Given the description of an element on the screen output the (x, y) to click on. 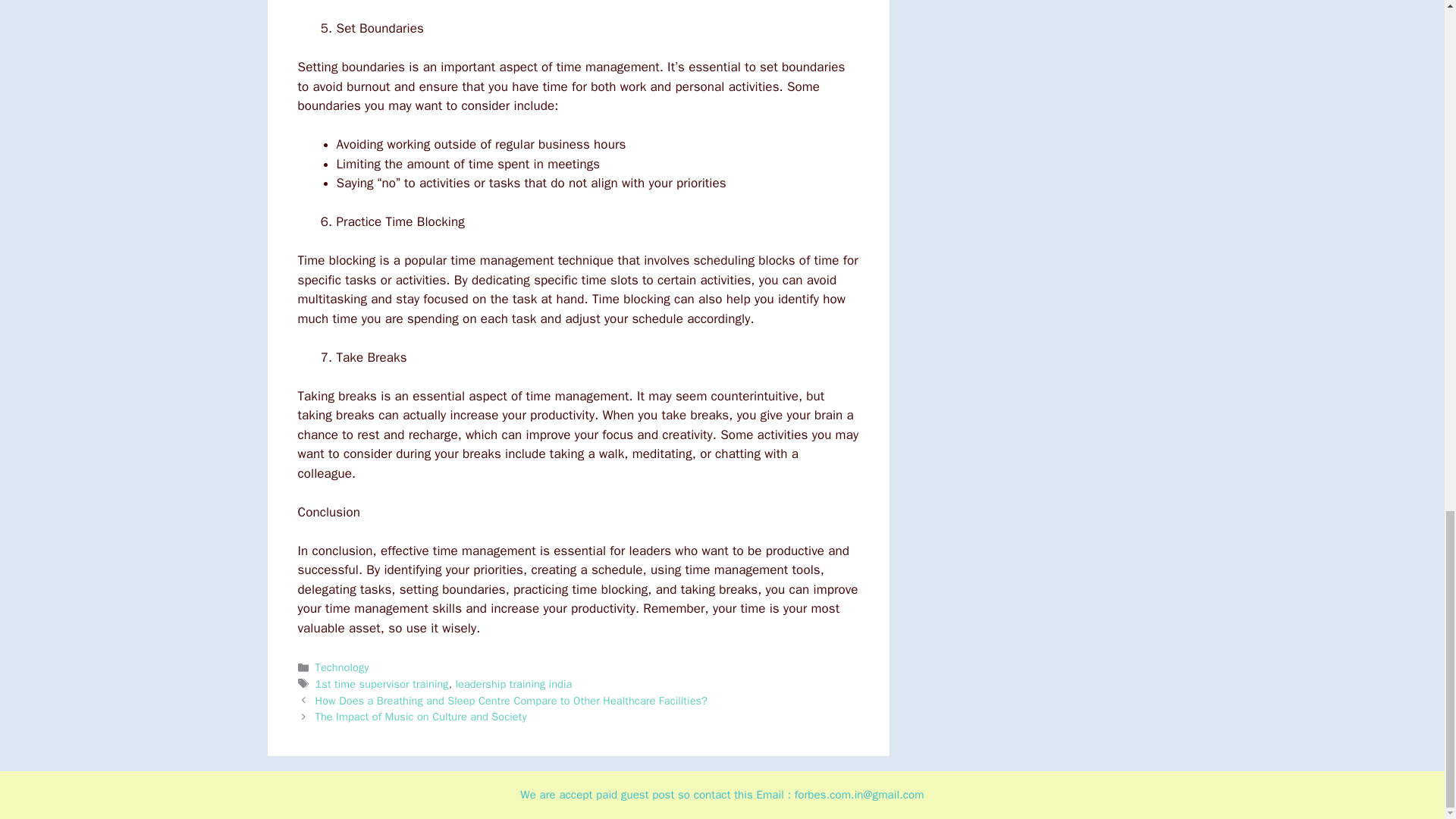
1st time supervisor training (381, 684)
leadership training india (513, 684)
The Impact of Music on Culture and Society (421, 716)
Technology (342, 667)
